Given the description of an element on the screen output the (x, y) to click on. 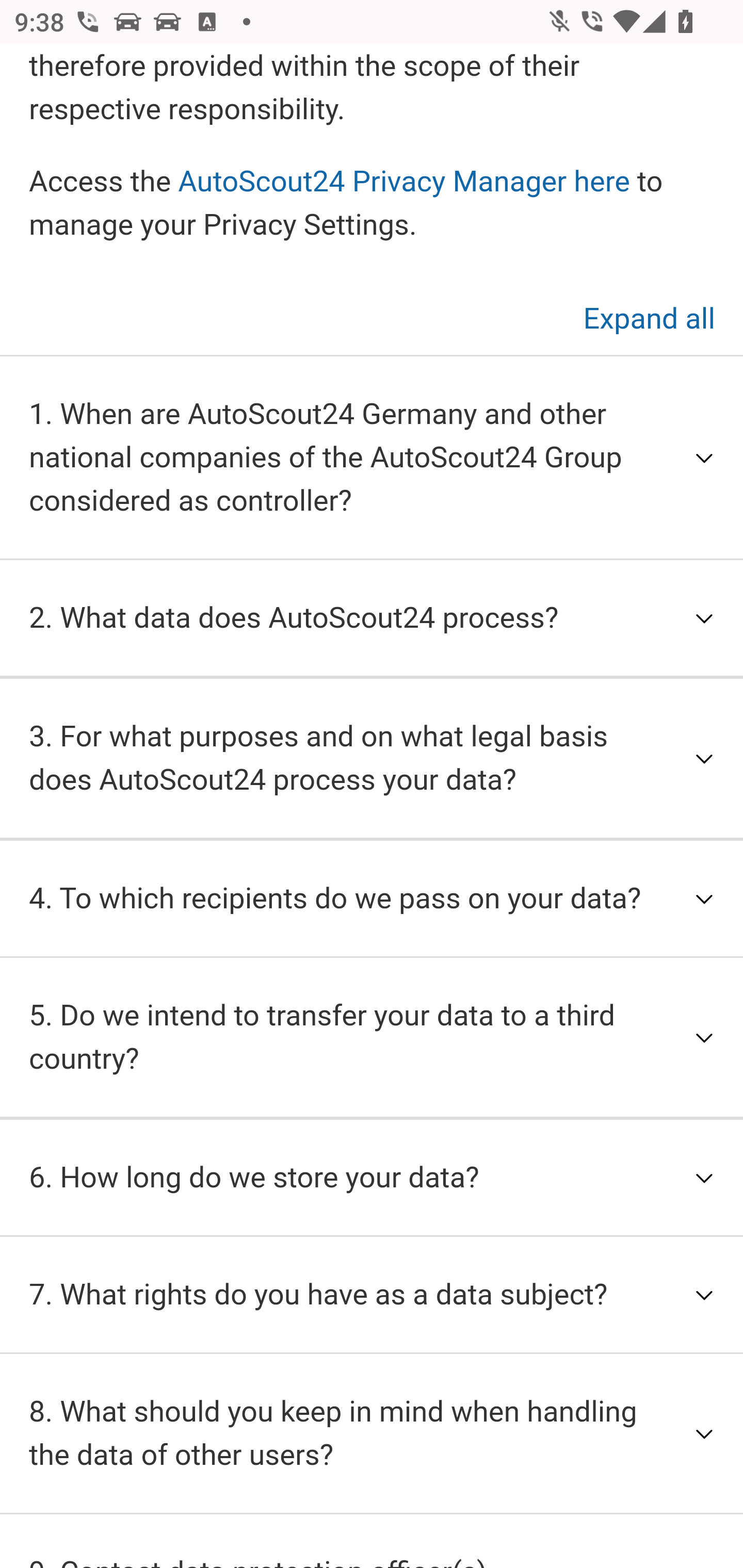
AutoScout24 Privacy Manager here (403, 182)
Expand all (648, 319)
